Given the description of an element on the screen output the (x, y) to click on. 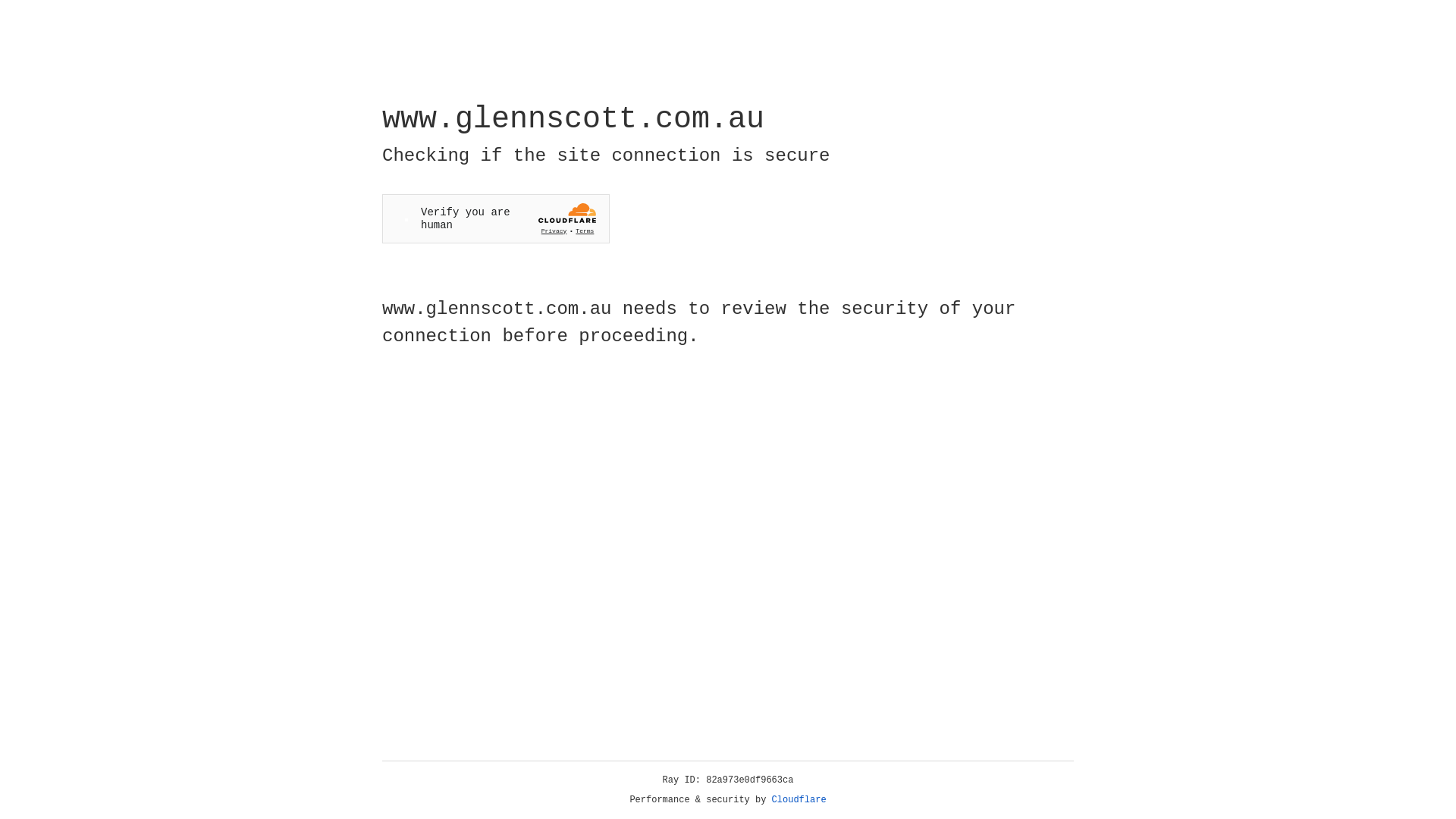
Widget containing a Cloudflare security challenge Element type: hover (495, 218)
Cloudflare Element type: text (798, 799)
